Given the description of an element on the screen output the (x, y) to click on. 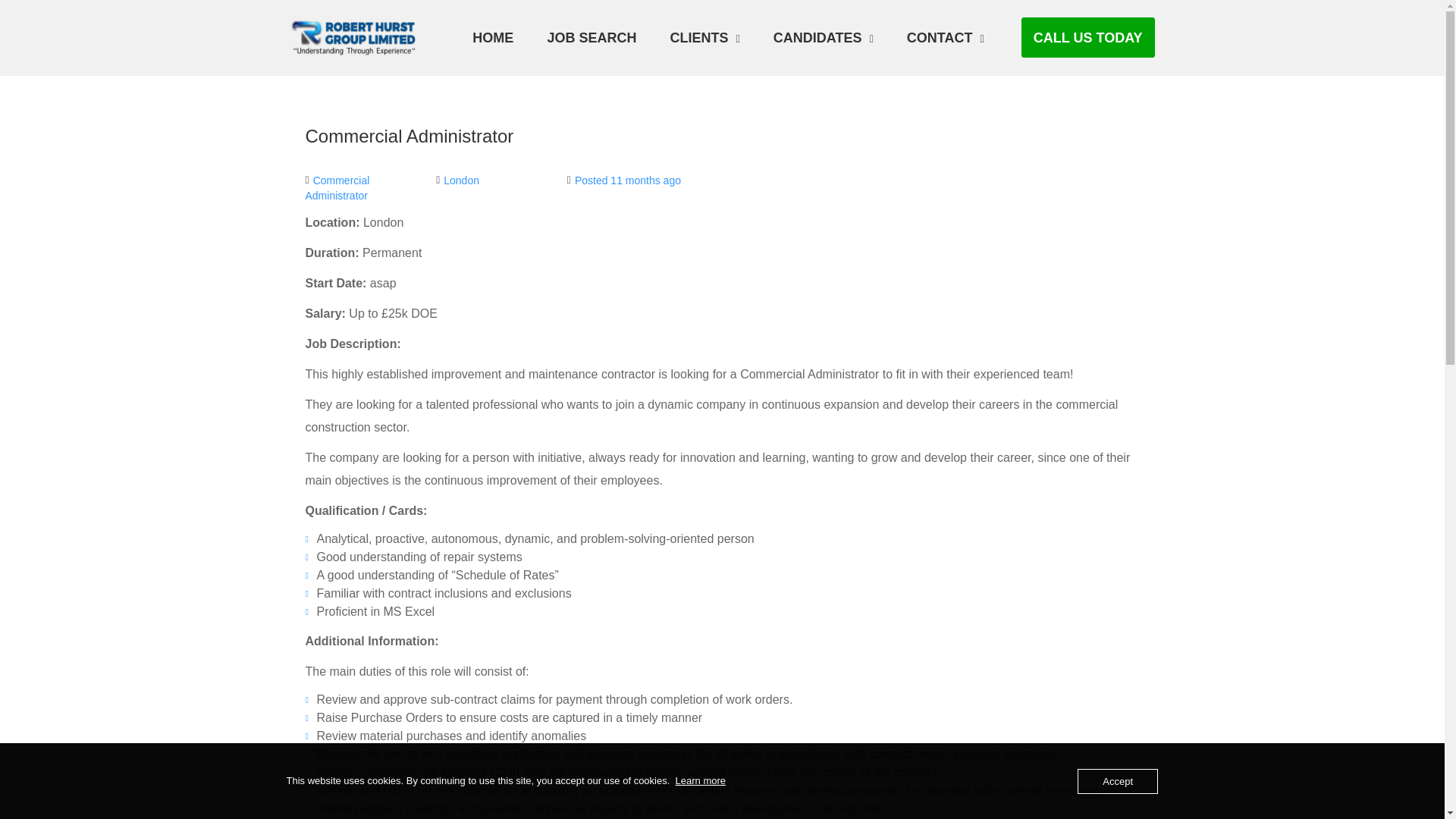
JOB SEARCH (591, 37)
Robert Hurst Group Ltd. (362, 37)
CLIENTS (704, 37)
CALL US TODAY (1088, 37)
CANDIDATES (823, 37)
HOME (492, 37)
CONTACT (945, 37)
Learn more (700, 780)
Accept (1117, 781)
